Given the description of an element on the screen output the (x, y) to click on. 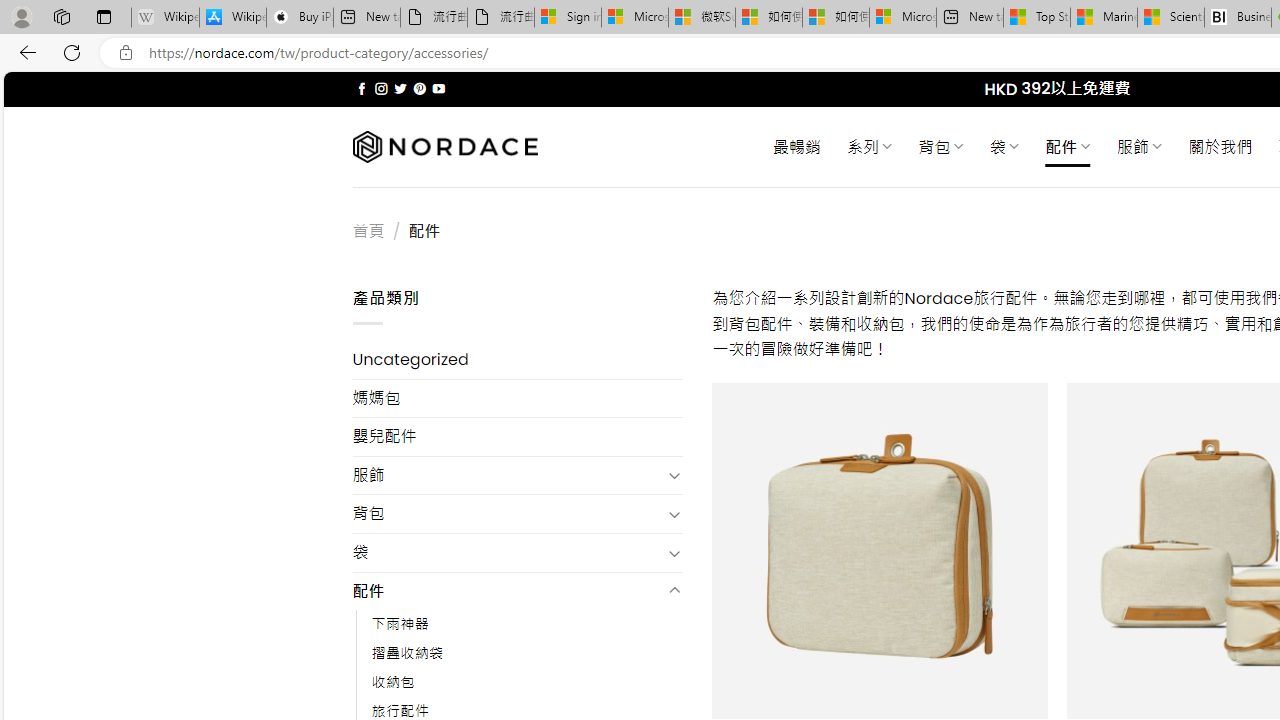
Follow on Instagram (381, 88)
